Given the description of an element on the screen output the (x, y) to click on. 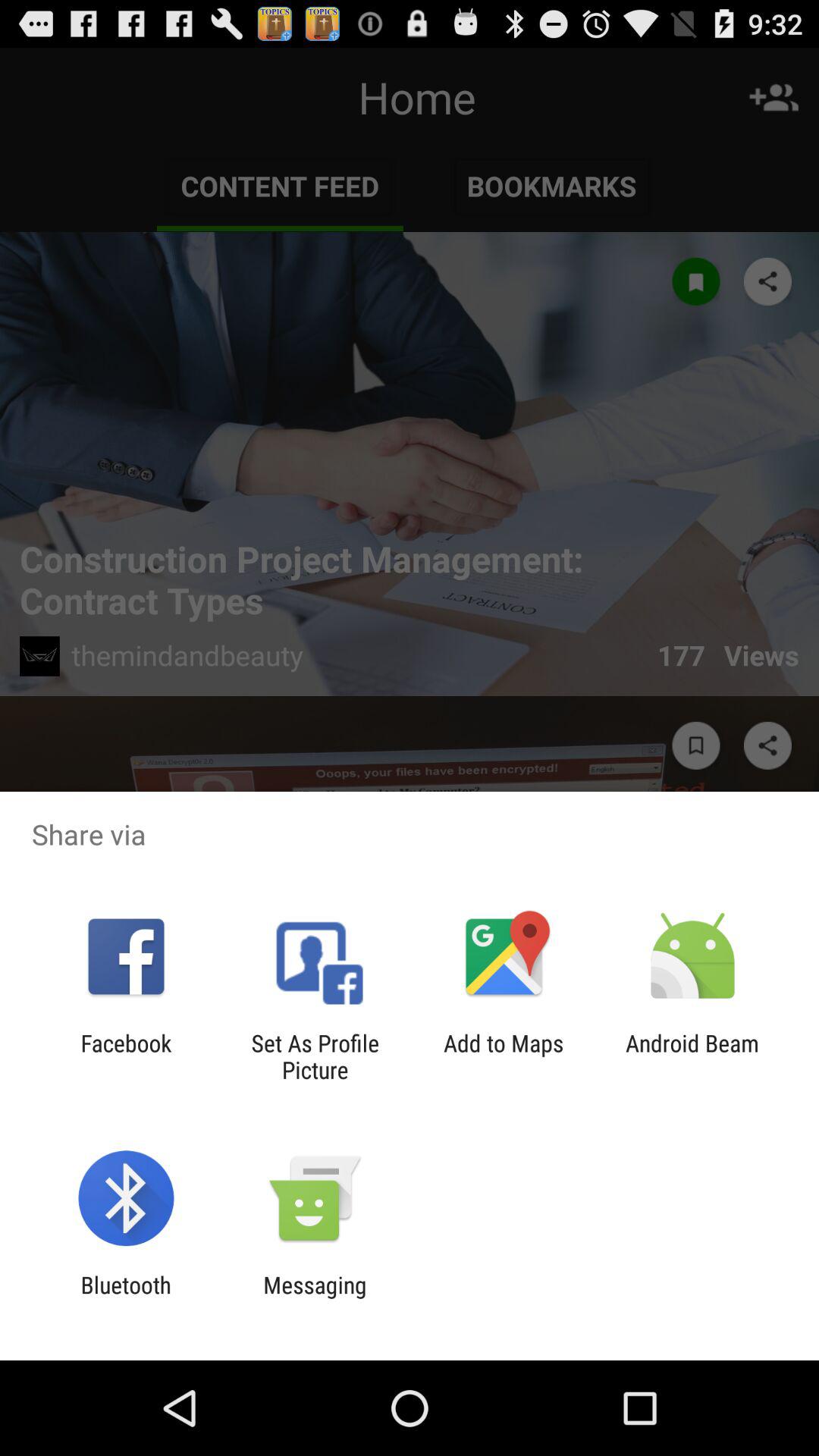
press item to the left of android beam (503, 1056)
